Given the description of an element on the screen output the (x, y) to click on. 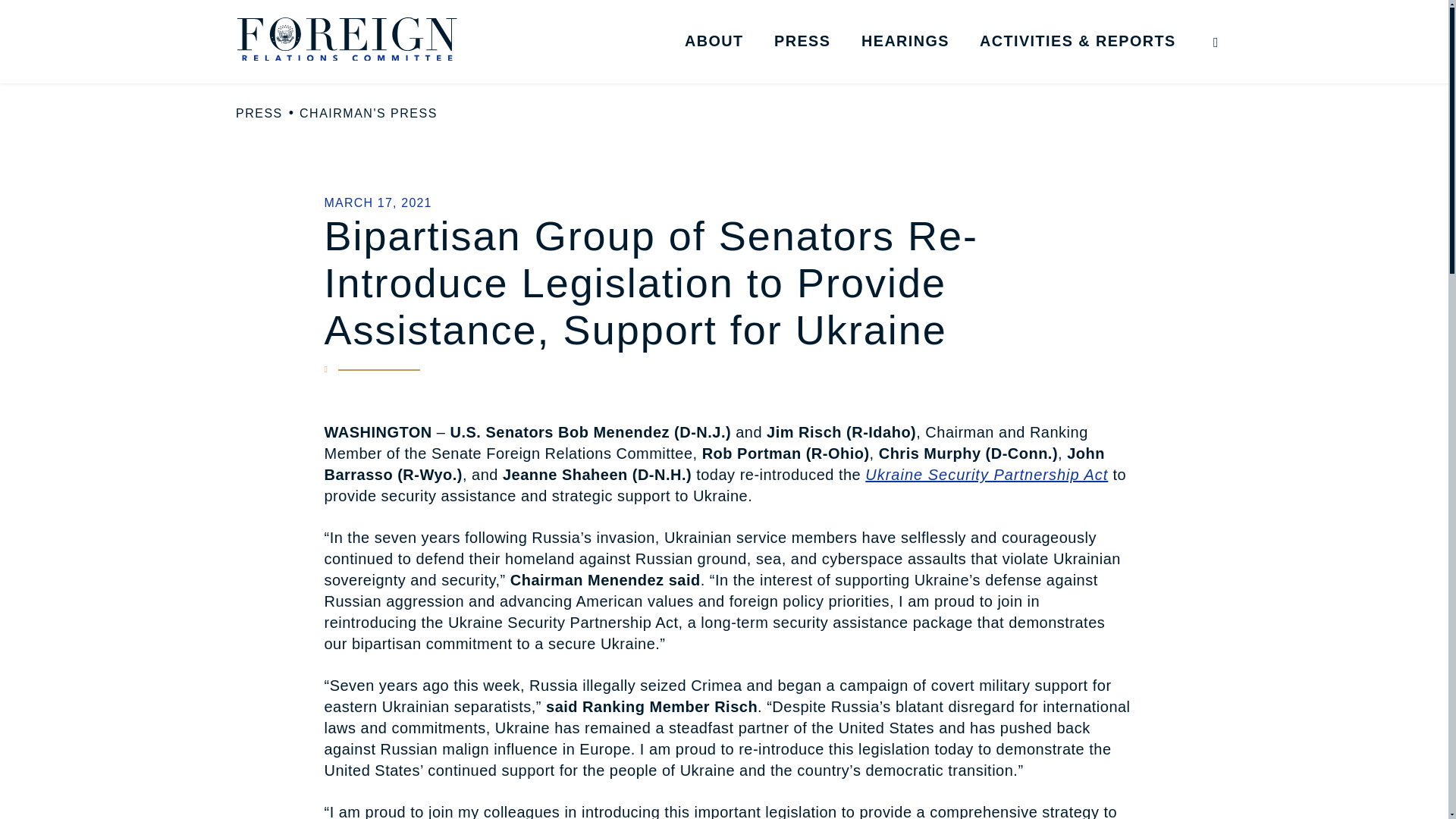
CHAIRMAN'S PRESS (369, 113)
Membership (798, 68)
PRESS (801, 41)
Chairman's Press (887, 68)
Nominations (1093, 68)
PRESS (259, 113)
Ukraine Security Partnership Act (986, 474)
HEARINGS (905, 41)
ABOUT (714, 41)
Skip to content (26, 26)
